Given the description of an element on the screen output the (x, y) to click on. 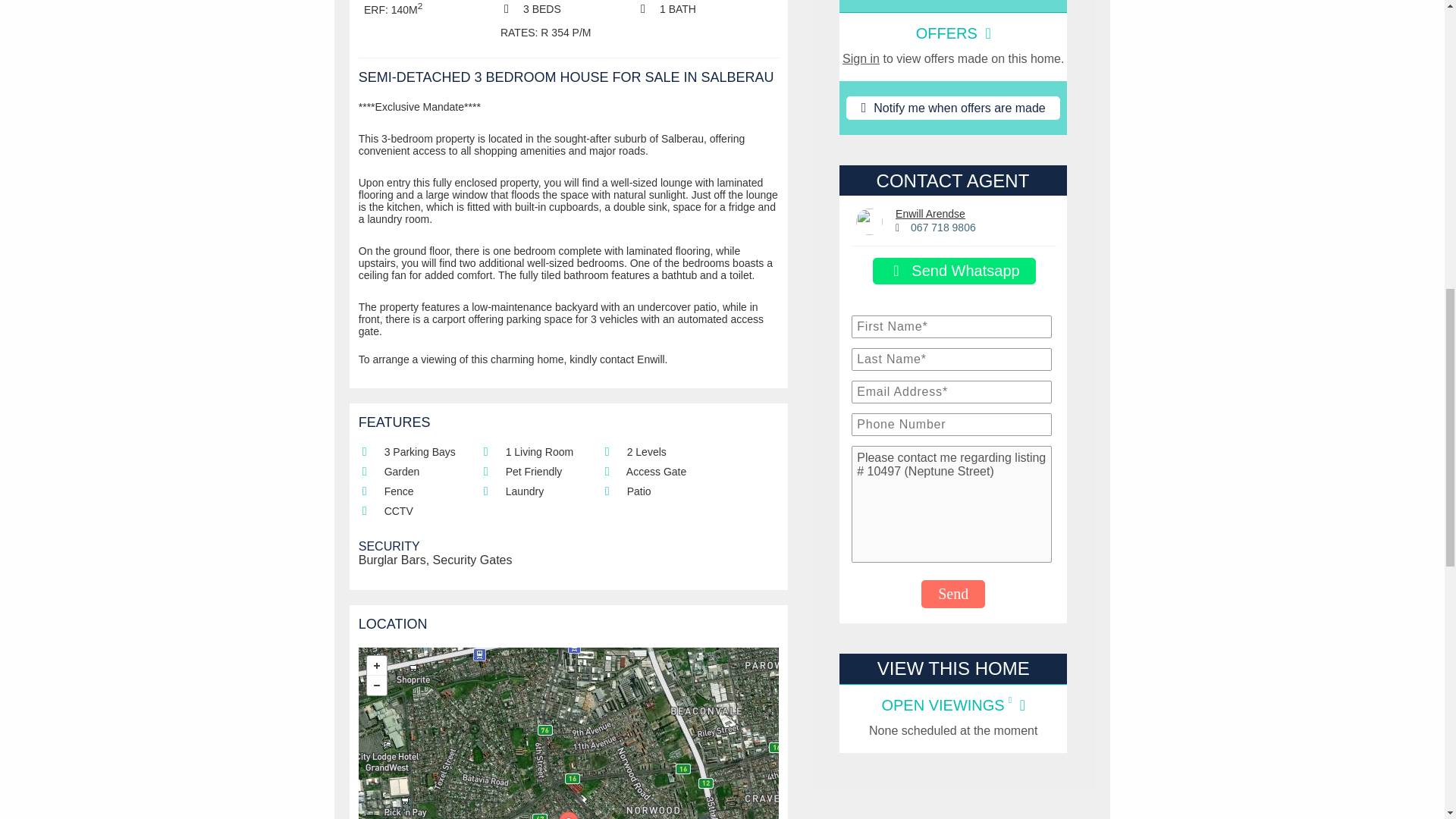
Zoom out (376, 685)
- (376, 685)
Send (953, 593)
Zoom in (376, 665)
